Given the description of an element on the screen output the (x, y) to click on. 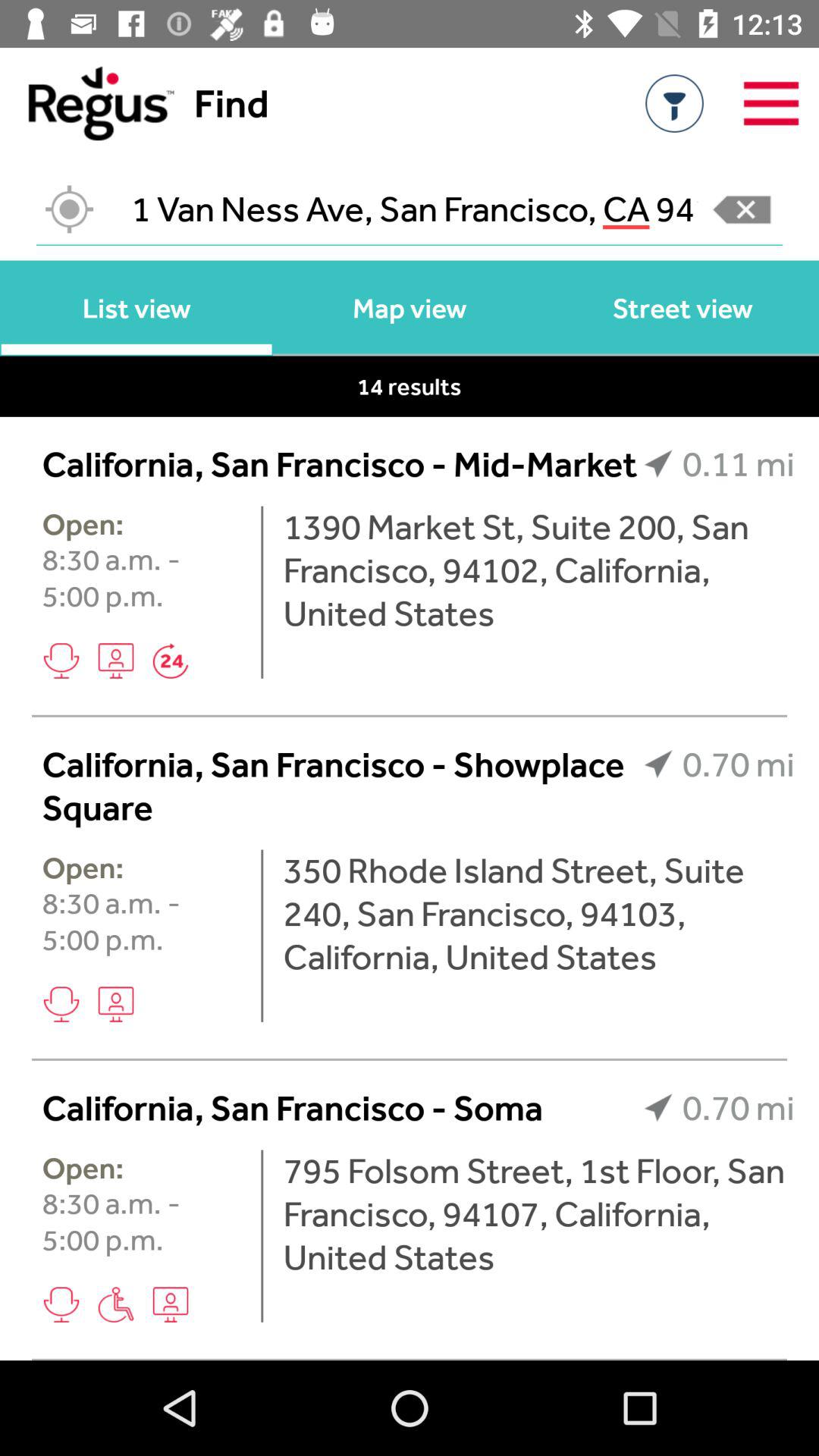
launch icon below california san francisco (538, 1213)
